Given the description of an element on the screen output the (x, y) to click on. 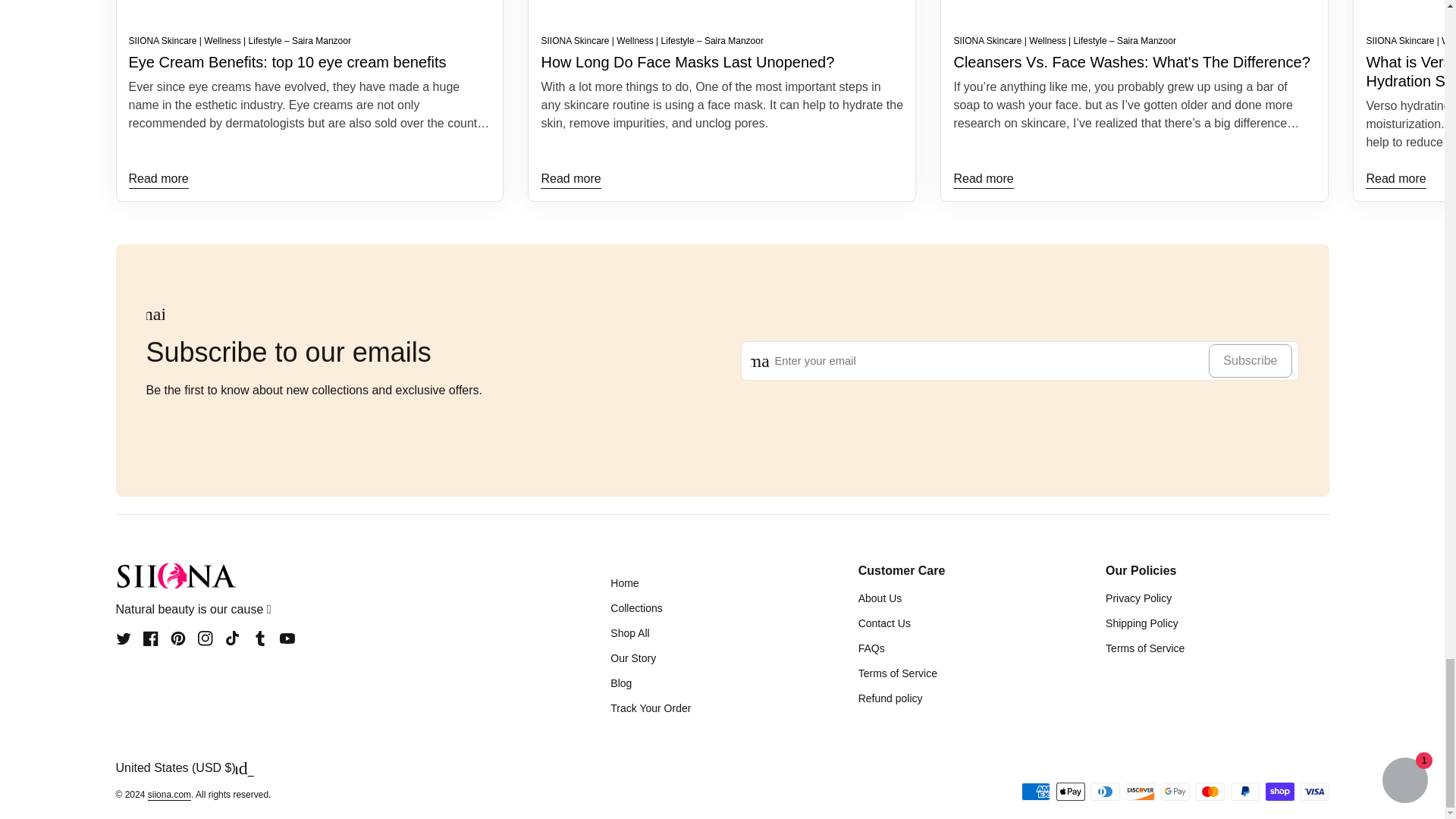
Mastercard (1209, 791)
American Express (1034, 791)
Visa (1313, 791)
Diners Club (1104, 791)
Subscribe (1249, 360)
Shop Pay (1279, 791)
Discover (1139, 791)
Apple Pay (1069, 791)
Google Pay (1174, 791)
PayPal (1244, 791)
